Given the description of an element on the screen output the (x, y) to click on. 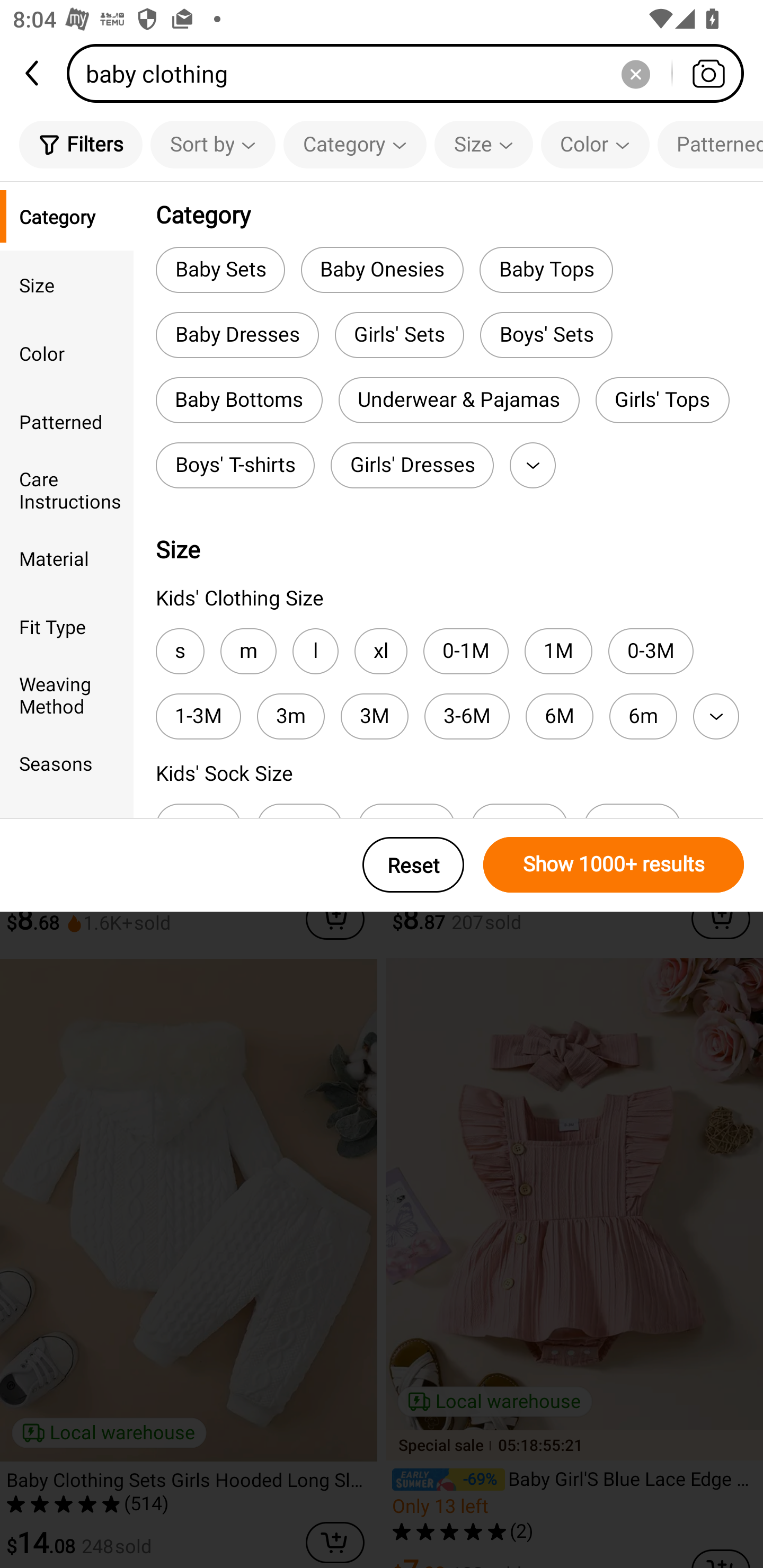
back (33, 72)
baby clothing (411, 73)
Delete search history (635, 73)
Search by photo (708, 73)
Filters (80, 143)
Sort by (212, 143)
Category (354, 143)
Size (483, 143)
Color (594, 143)
Patterned (710, 143)
Category (66, 215)
Baby Sets (220, 269)
Baby Onesies (381, 269)
Baby Tops (545, 269)
Size (66, 284)
Baby Dresses (236, 334)
Girls' Sets (398, 334)
Boys' Sets (545, 334)
Color (66, 352)
Baby Bottoms (238, 400)
Underwear & Pajamas (458, 400)
Girls' Tops (662, 400)
Patterned (66, 421)
Boys' T-shirts (234, 464)
Girls' Dresses (411, 464)
More (532, 464)
Care Instructions (66, 489)
Material (66, 557)
Fit Type (66, 626)
s (179, 651)
m (248, 651)
l (315, 651)
xl (380, 651)
0-1M (465, 651)
1M (558, 651)
0-3M (650, 651)
Weaving Method (66, 694)
1-3M (198, 716)
3m (291, 716)
3M (374, 716)
3-6M (466, 716)
6M (559, 716)
6m (643, 716)
More (715, 716)
Seasons (66, 762)
Reset (412, 864)
Show 1000+ results (612, 864)
